Given the description of an element on the screen output the (x, y) to click on. 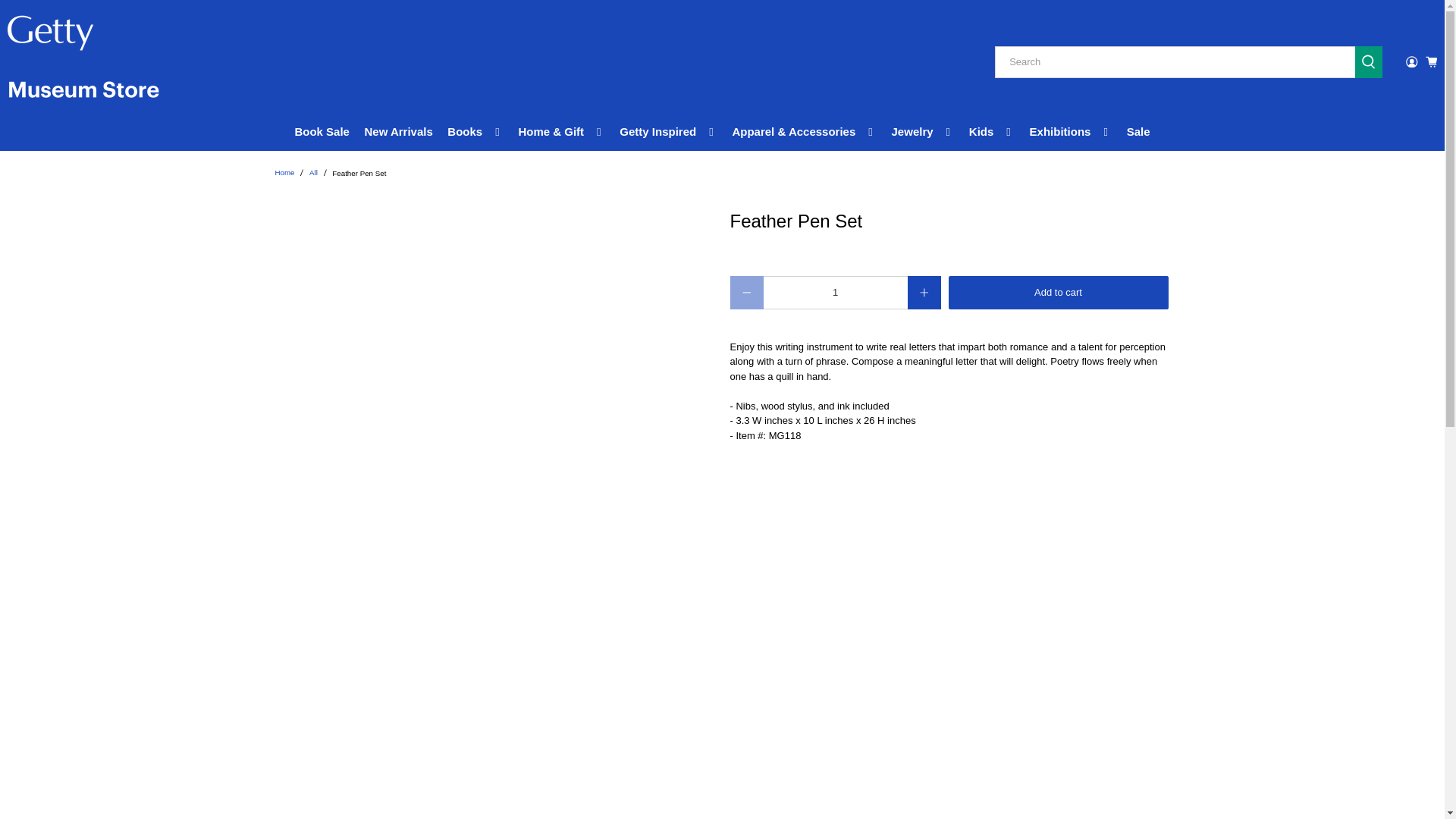
Getty Museum Store (284, 172)
Getty Inspired (668, 131)
Getty Museum Store (82, 61)
1 (834, 292)
New Arrivals (398, 131)
Books (476, 131)
Book Sale (321, 131)
